Given the description of an element on the screen output the (x, y) to click on. 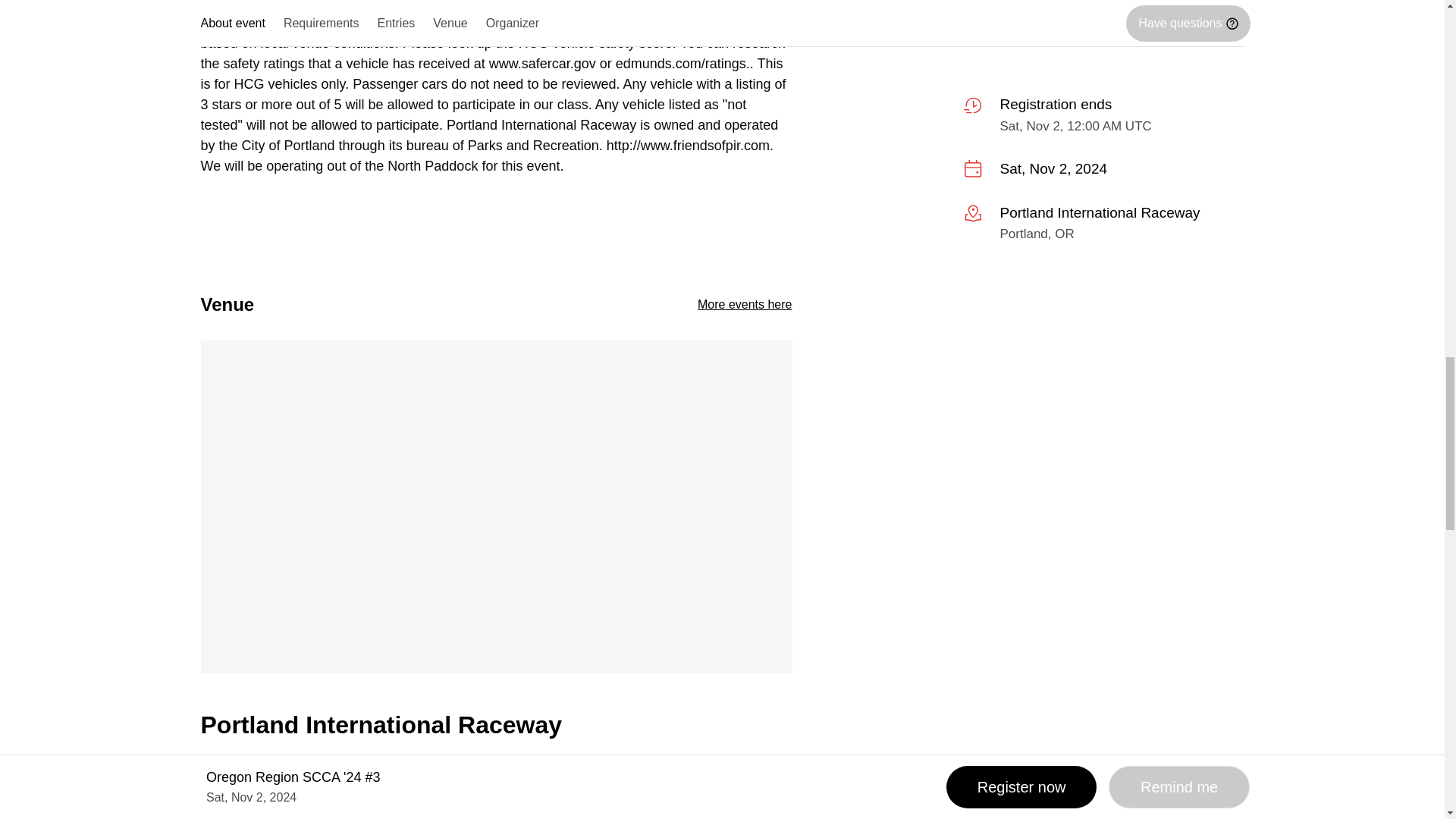
More events here (744, 304)
